Given the description of an element on the screen output the (x, y) to click on. 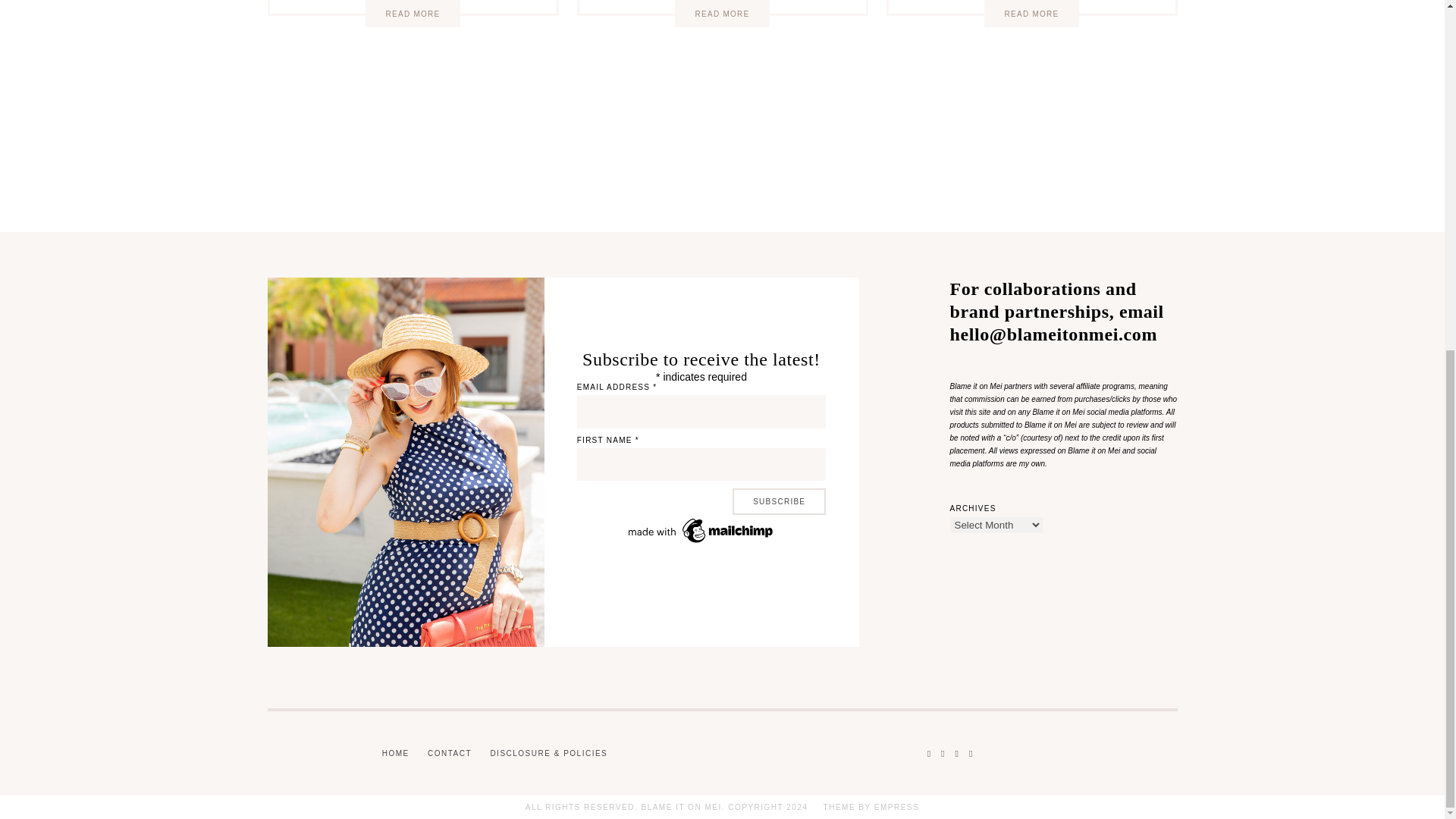
Subscribe (778, 501)
Mailchimp - email marketing made easy and fun (700, 542)
